Given the description of an element on the screen output the (x, y) to click on. 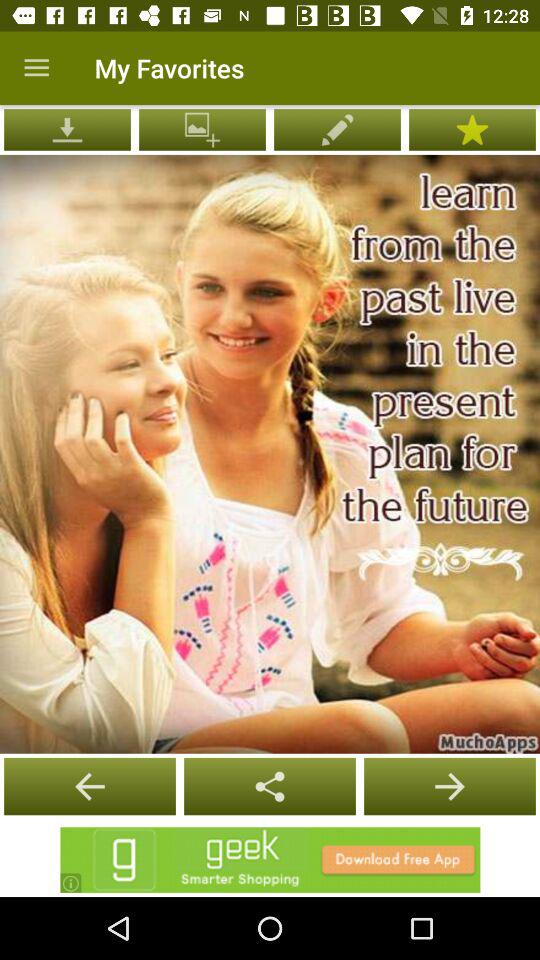
know about the advertisement (270, 859)
